Given the description of an element on the screen output the (x, y) to click on. 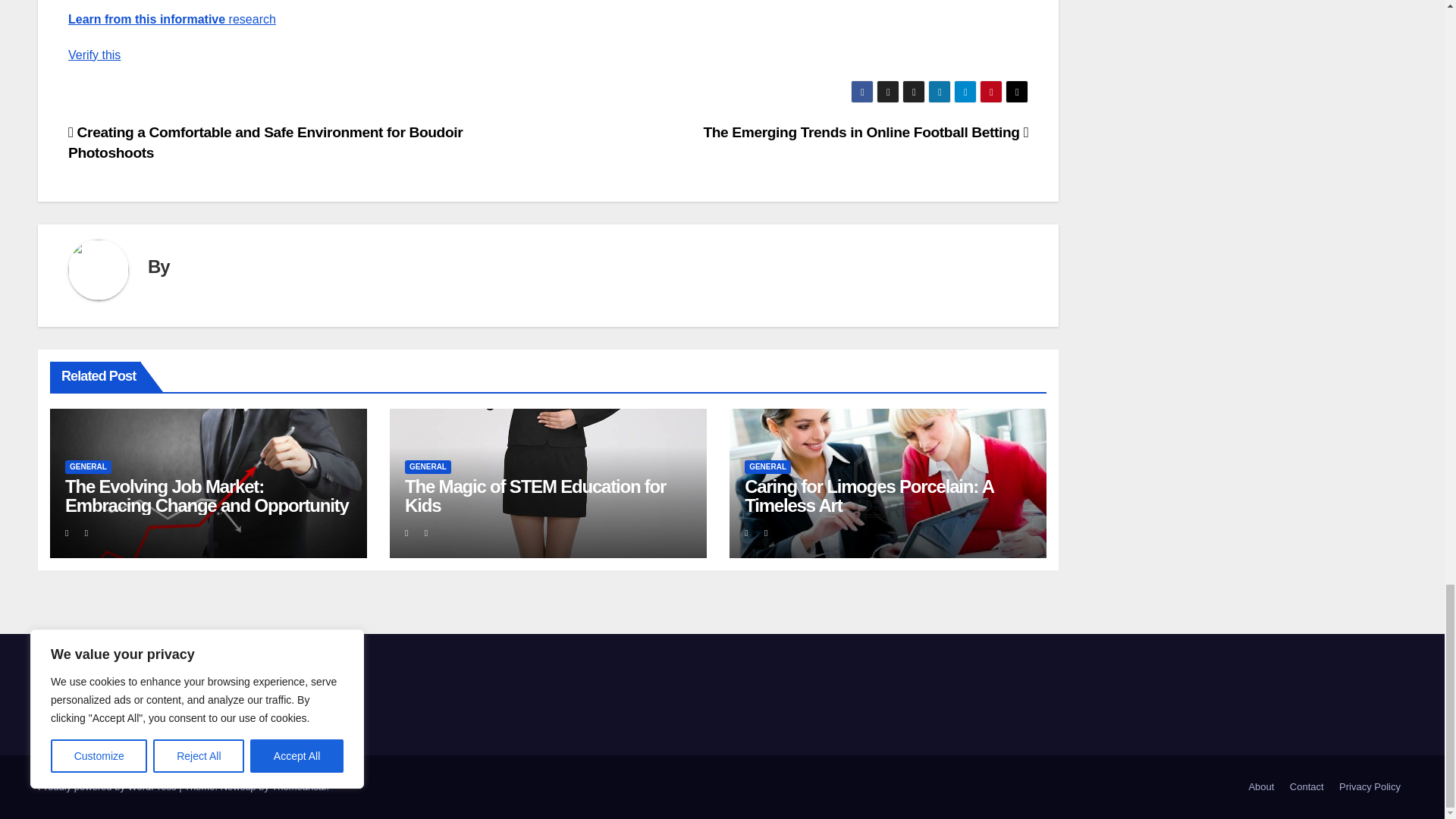
Contact (1307, 786)
Verify this (94, 54)
Permalink to: Caring for Limoges Porcelain: A Timeless Art (868, 495)
Learn from this informative research (172, 19)
Permalink to: The Magic of STEM Education for Kids (534, 495)
About (1260, 786)
Privacy Policy (1369, 786)
